Given the description of an element on the screen output the (x, y) to click on. 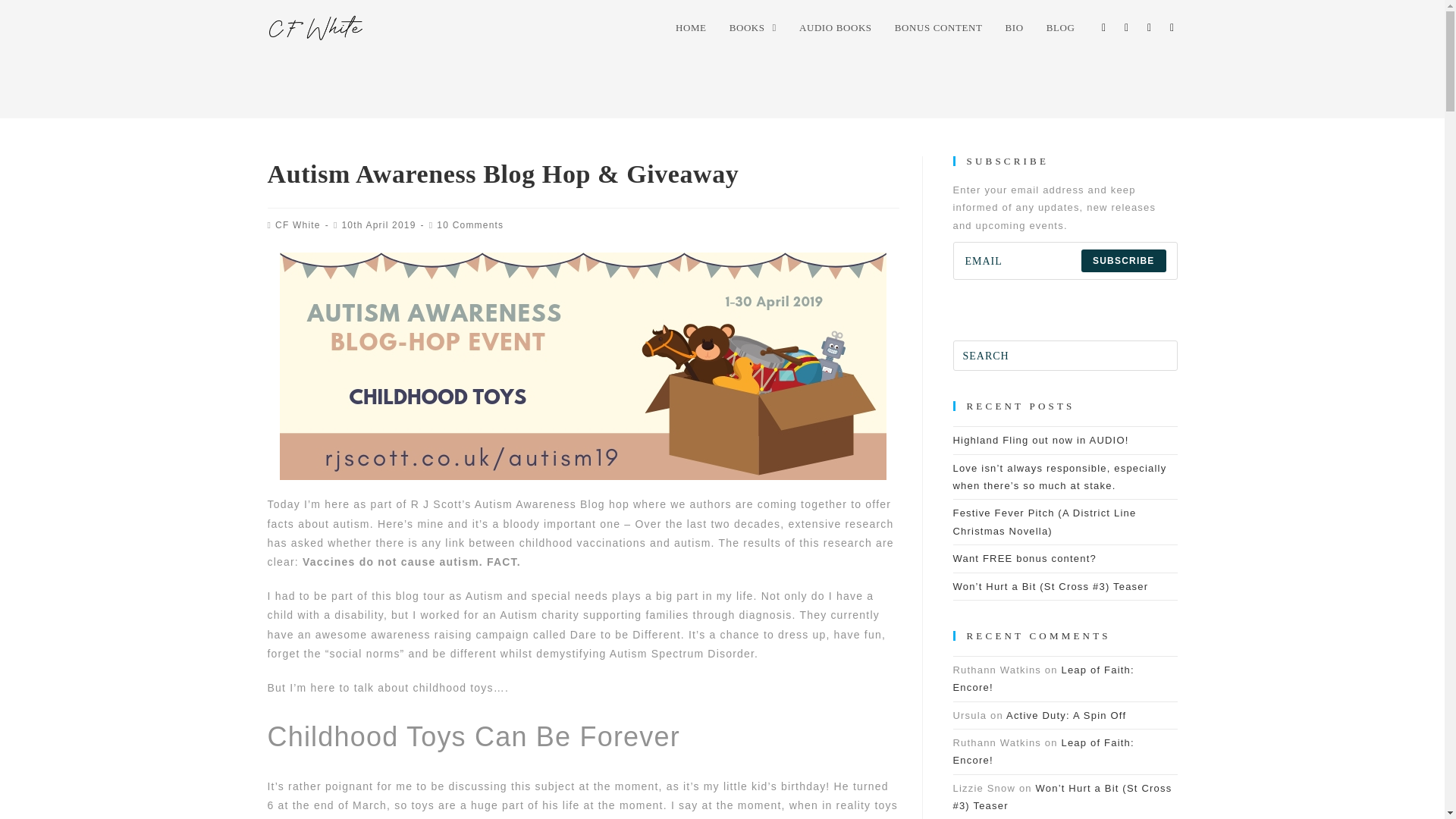
BONUS CONTENT (938, 28)
HOME (690, 28)
10 Comments (469, 225)
CF White (297, 225)
AUDIO BOOKS (835, 28)
BOOKS (752, 28)
Posts by CF White (297, 225)
BLOG (1060, 28)
